Given the description of an element on the screen output the (x, y) to click on. 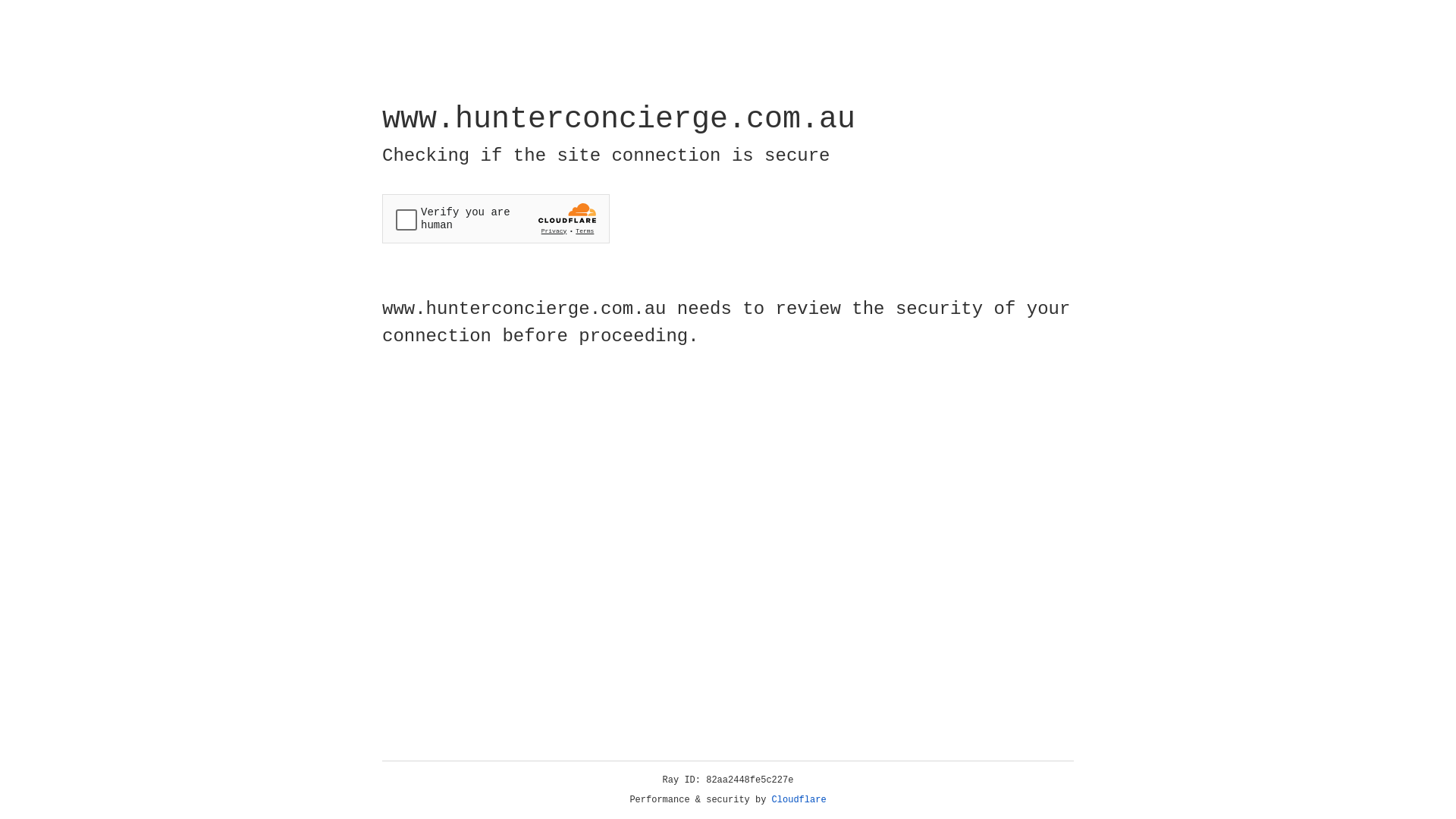
Widget containing a Cloudflare security challenge Element type: hover (495, 218)
Cloudflare Element type: text (798, 799)
